Given the description of an element on the screen output the (x, y) to click on. 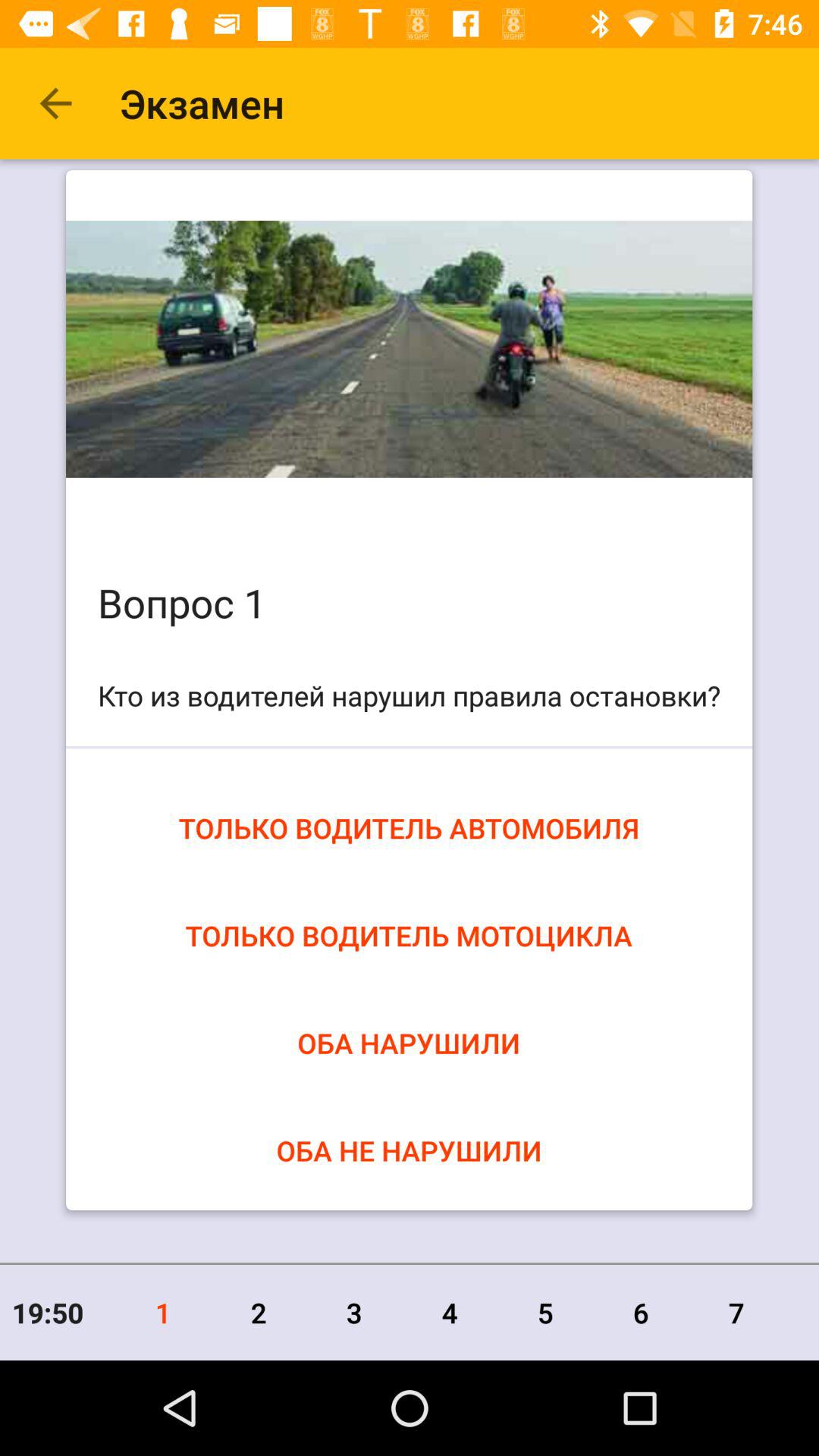
press the 7 item (736, 1312)
